Given the description of an element on the screen output the (x, y) to click on. 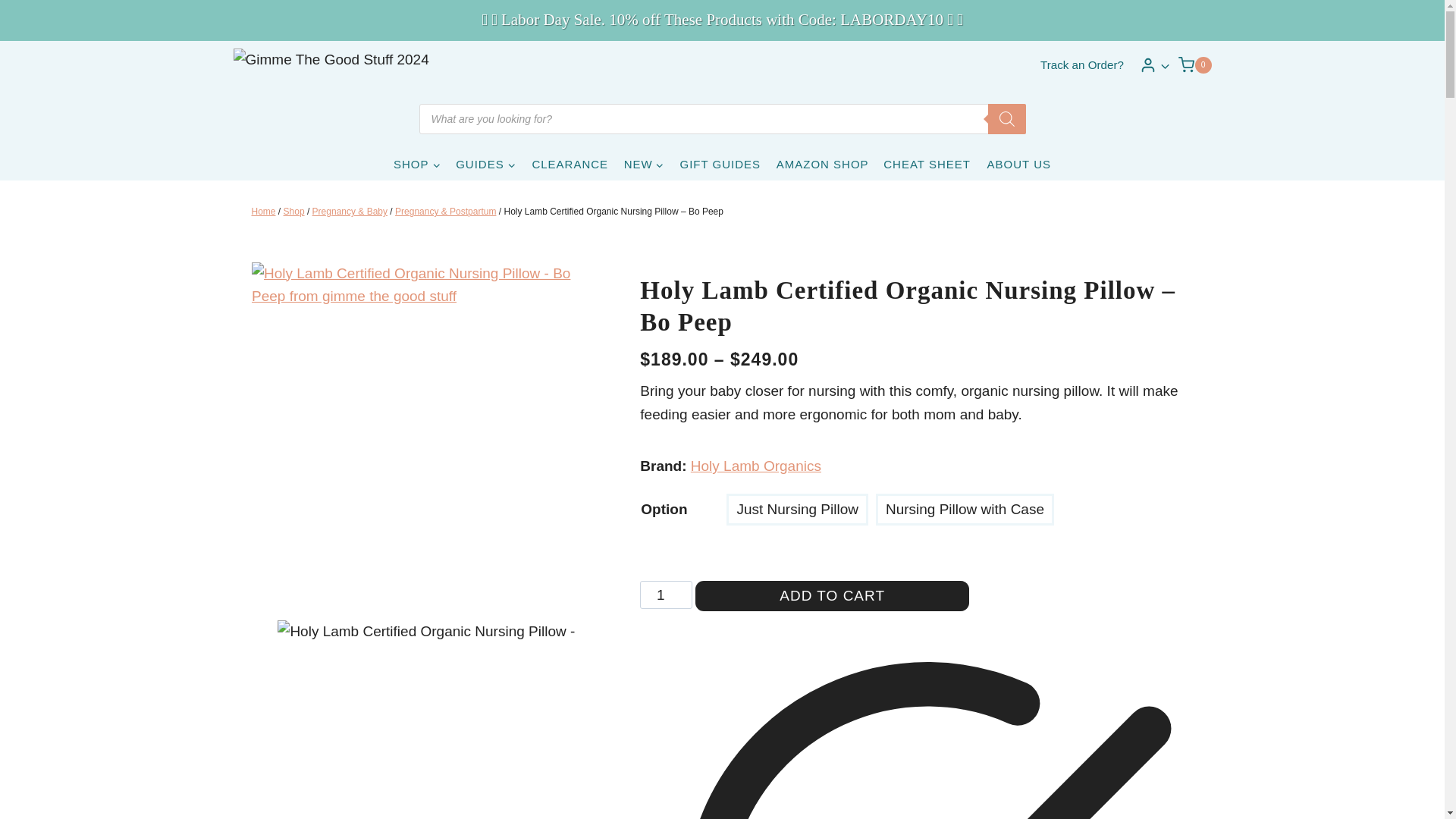
Track an Order? (1081, 64)
0 (1194, 64)
SHOP (416, 164)
1 (666, 594)
